Given the description of an element on the screen output the (x, y) to click on. 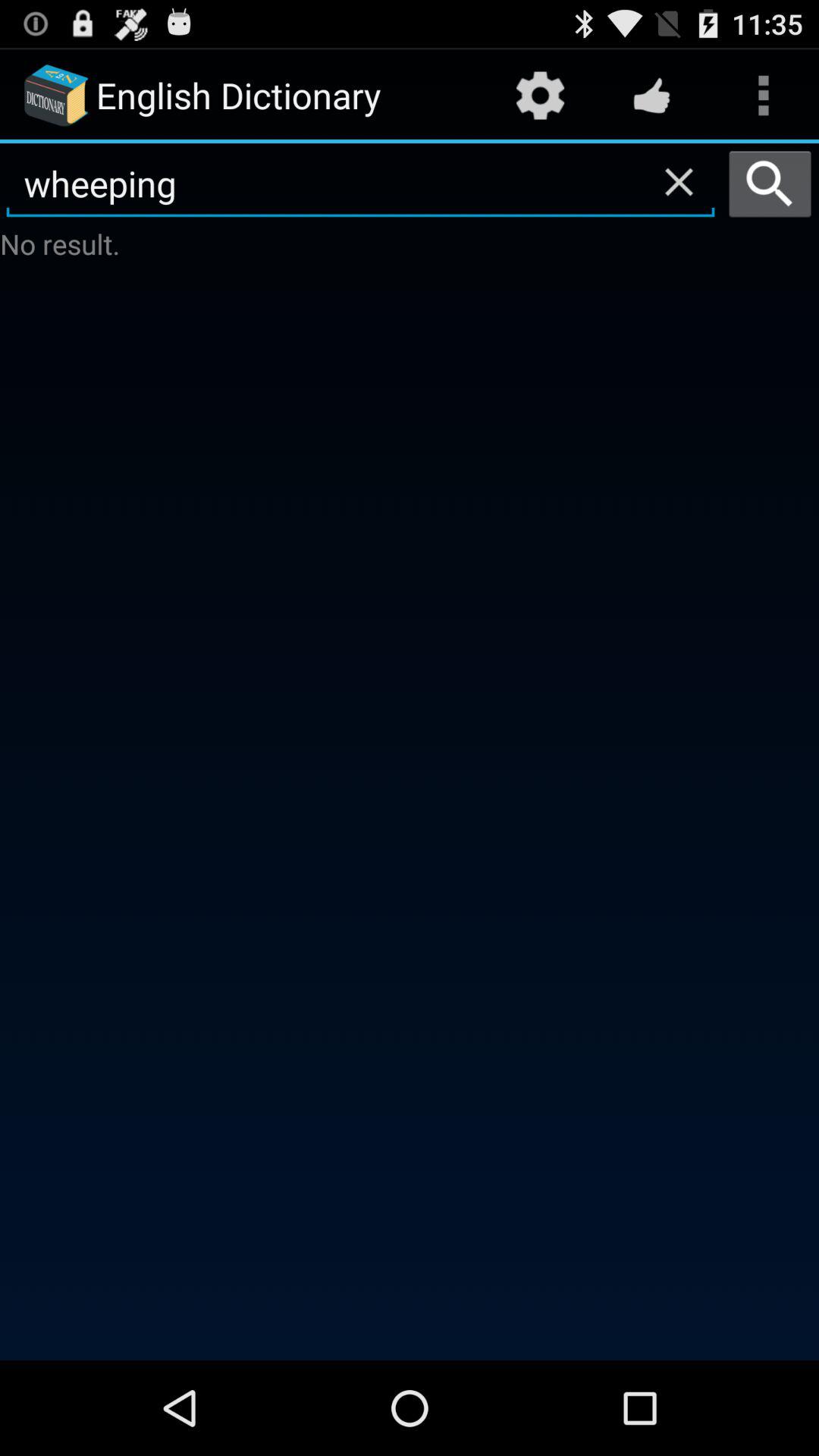
press icon to the right of the english dictionary app (540, 95)
